Given the description of an element on the screen output the (x, y) to click on. 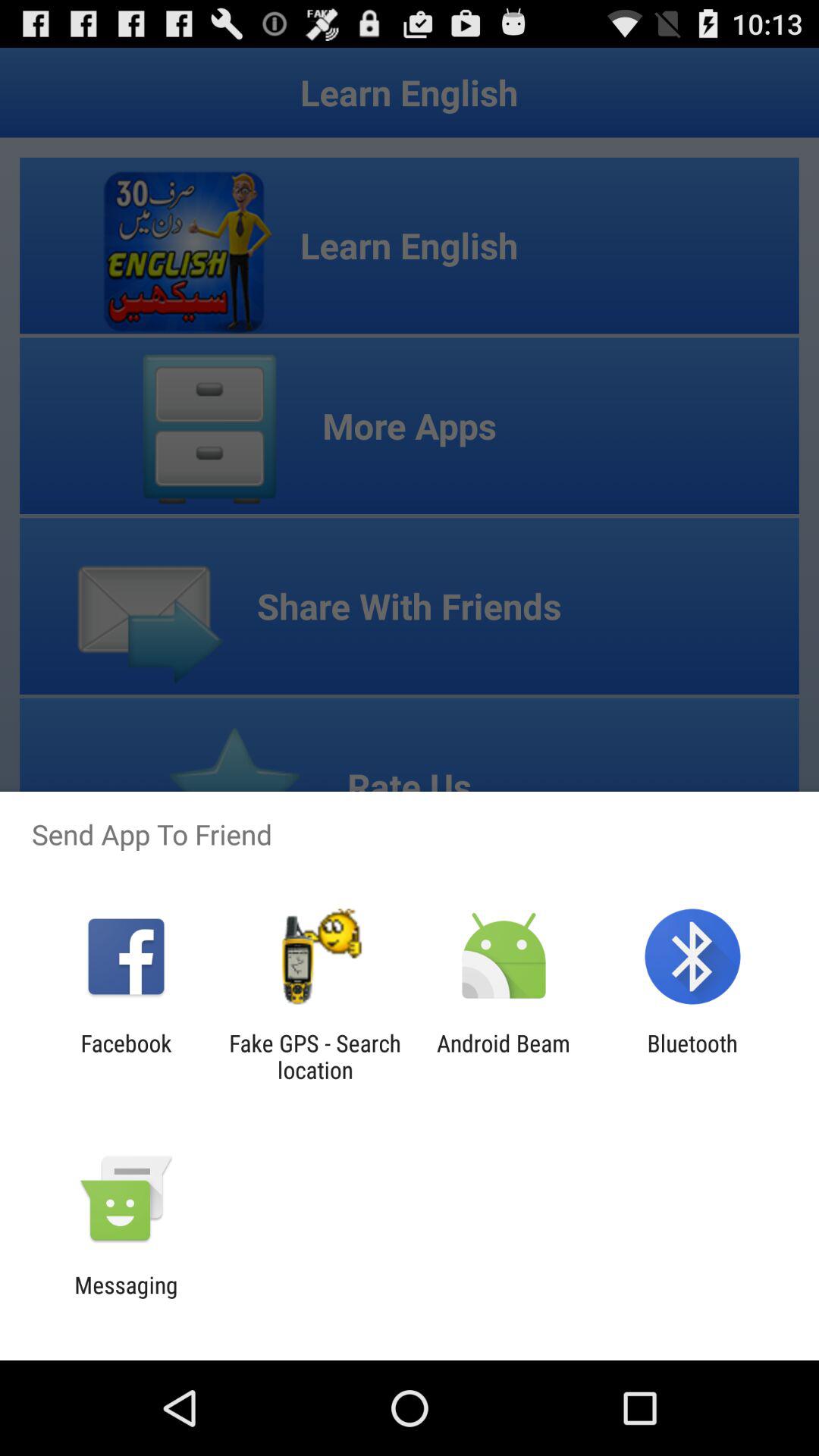
click the item to the left of bluetooth icon (503, 1056)
